Given the description of an element on the screen output the (x, y) to click on. 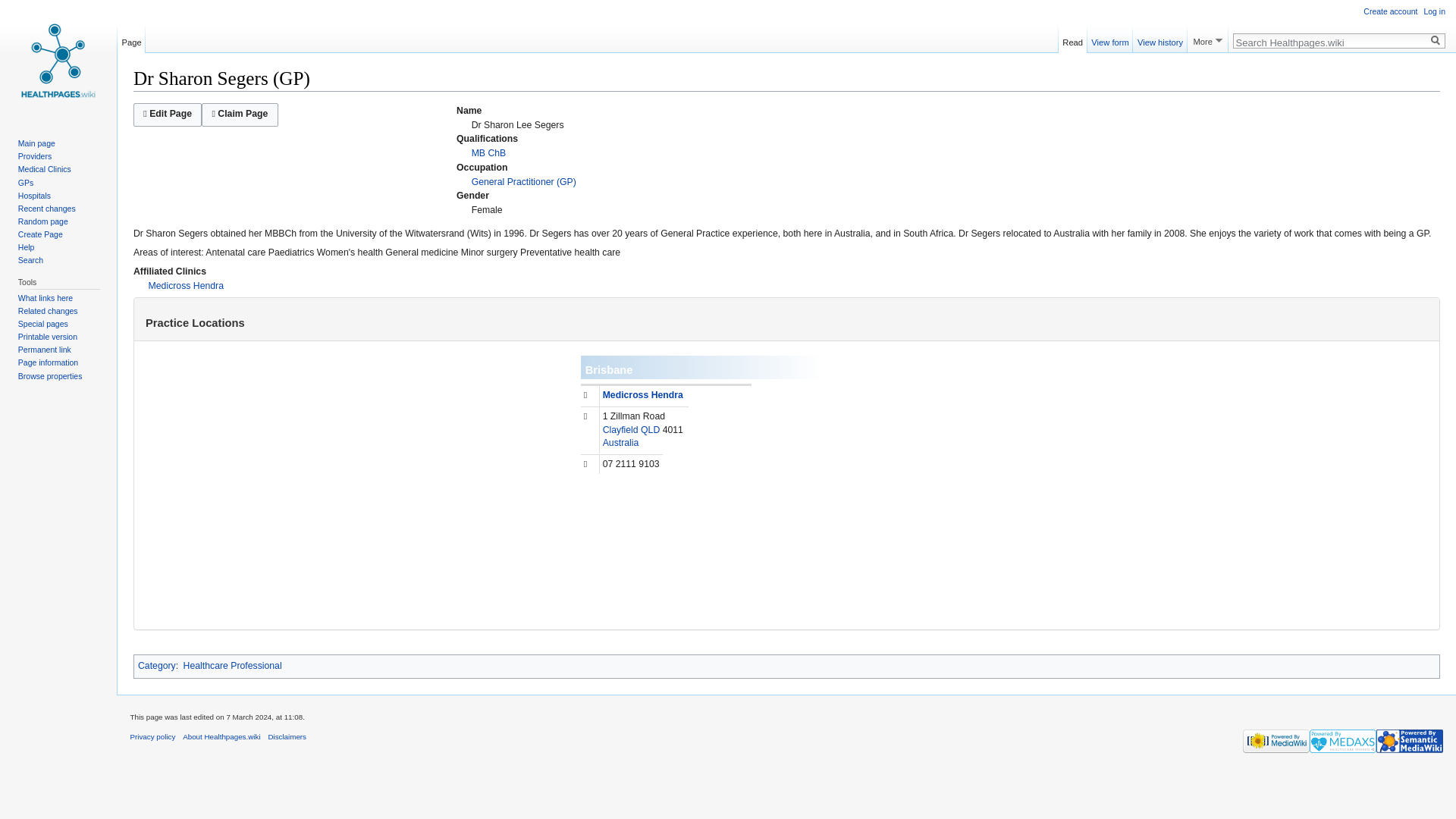
Clayfield (620, 429)
Medicross Hendra (186, 285)
MB ChB (488, 153)
QLD (649, 429)
Create Page (39, 234)
Brisbane (609, 369)
Edit Page (167, 114)
Medicross Hendra (186, 285)
Special:Categories (157, 665)
Read (1072, 34)
